Given the description of an element on the screen output the (x, y) to click on. 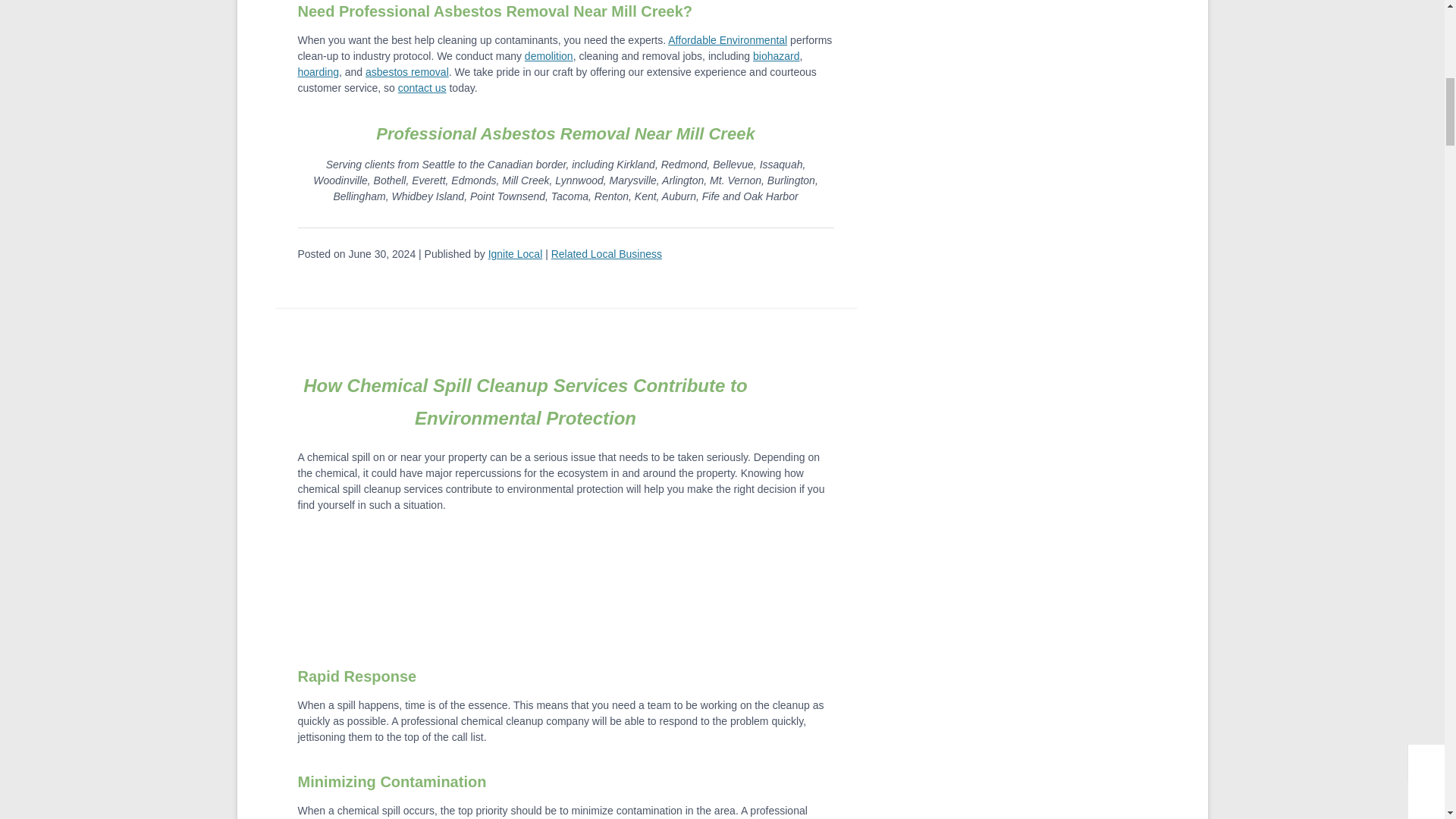
Ignite Local (515, 254)
asbestos removal (406, 71)
biohazard (775, 55)
contact us (421, 87)
demolition (548, 55)
Affordable Environmental (727, 39)
hoarding (318, 71)
Related Local Business (606, 254)
